Given the description of an element on the screen output the (x, y) to click on. 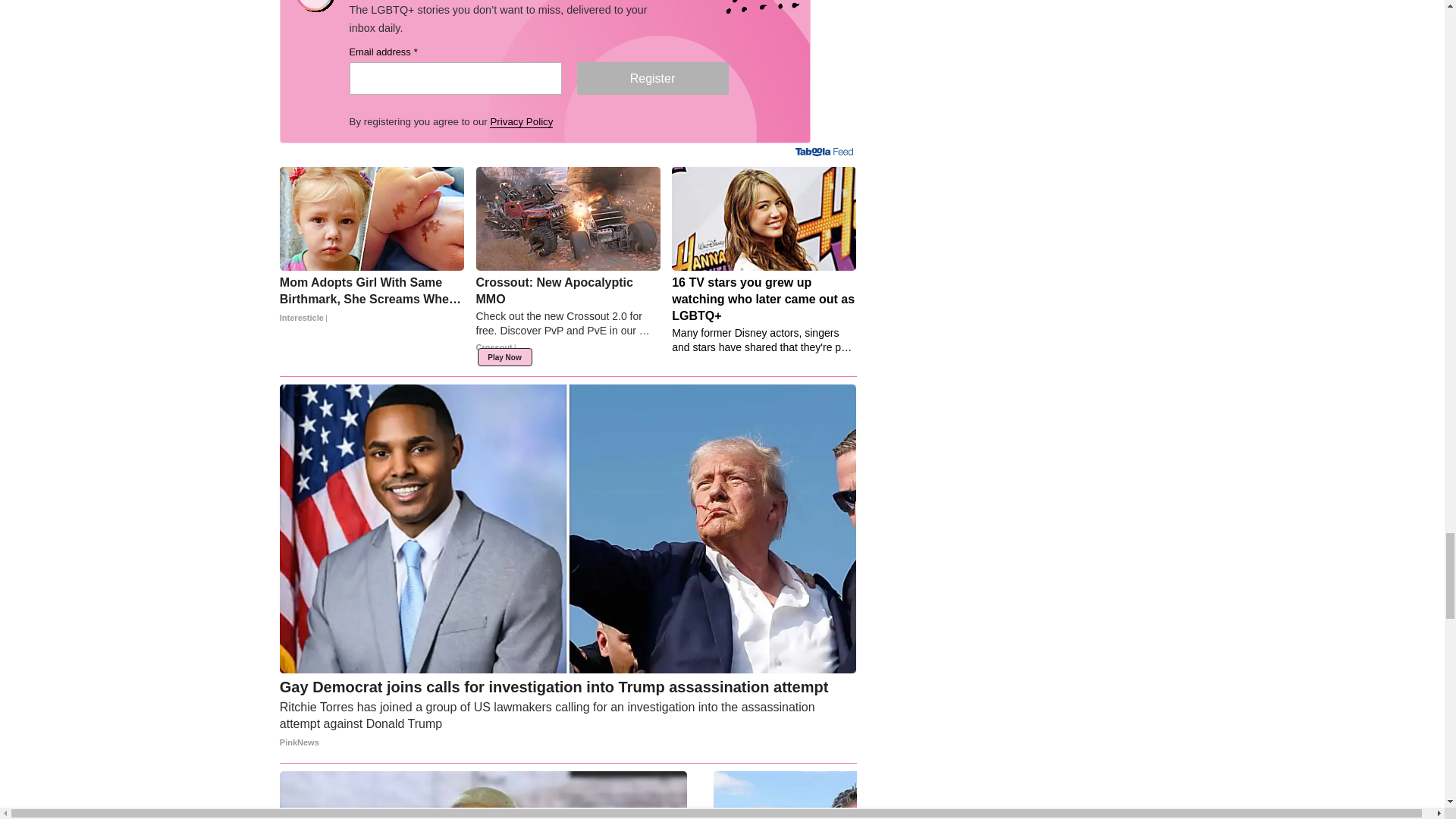
Crossout: New Apocalyptic MMO (568, 319)
